Given the description of an element on the screen output the (x, y) to click on. 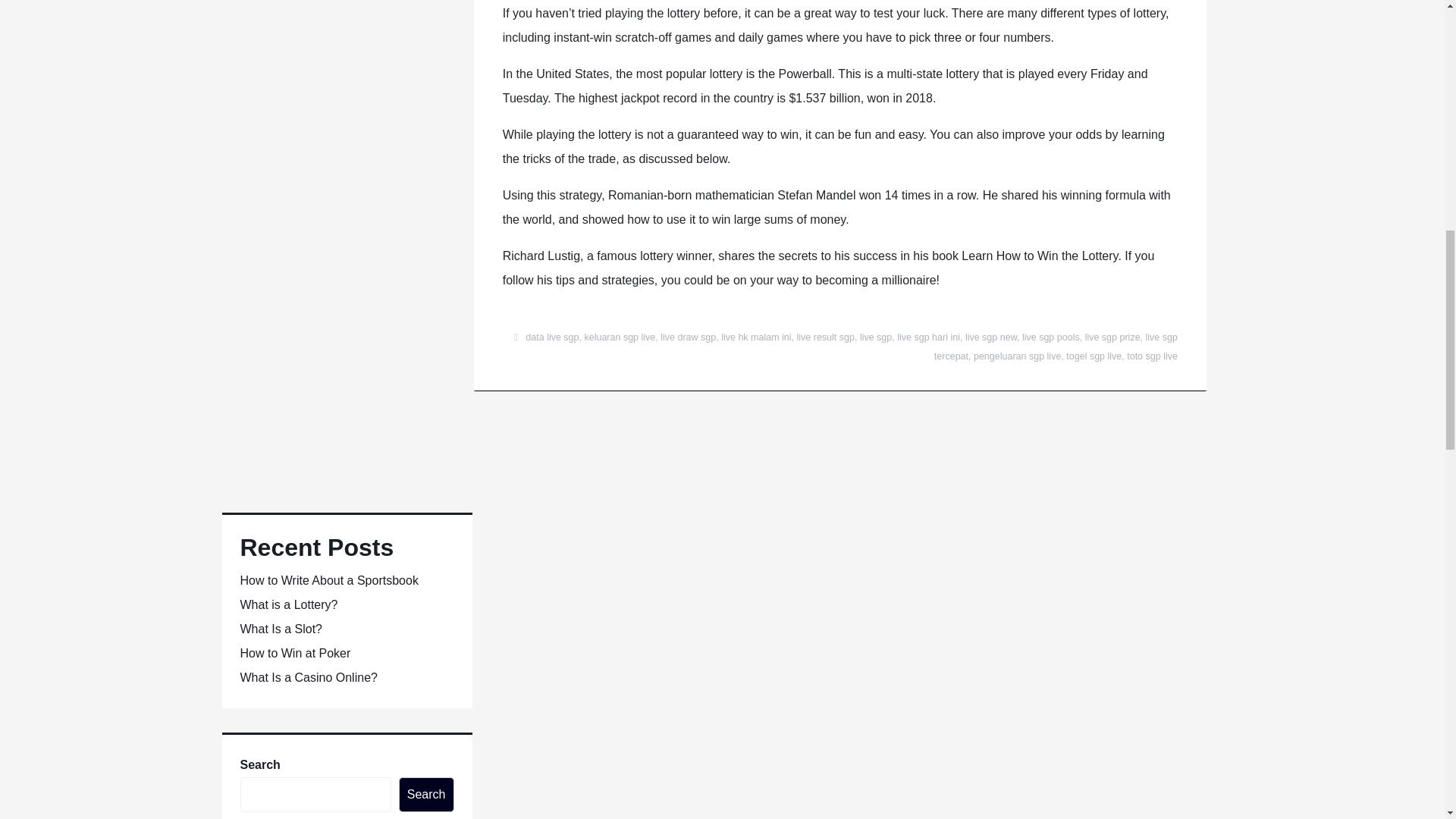
What is a Lottery? (288, 604)
live result sgp (824, 337)
live sgp tercepat (1055, 346)
togel sgp live (1093, 356)
live hk malam ini (755, 337)
Search (426, 794)
live sgp new (990, 337)
How to Write About a Sportsbook (328, 580)
What Is a Slot? (280, 628)
live sgp (875, 337)
